Given the description of an element on the screen output the (x, y) to click on. 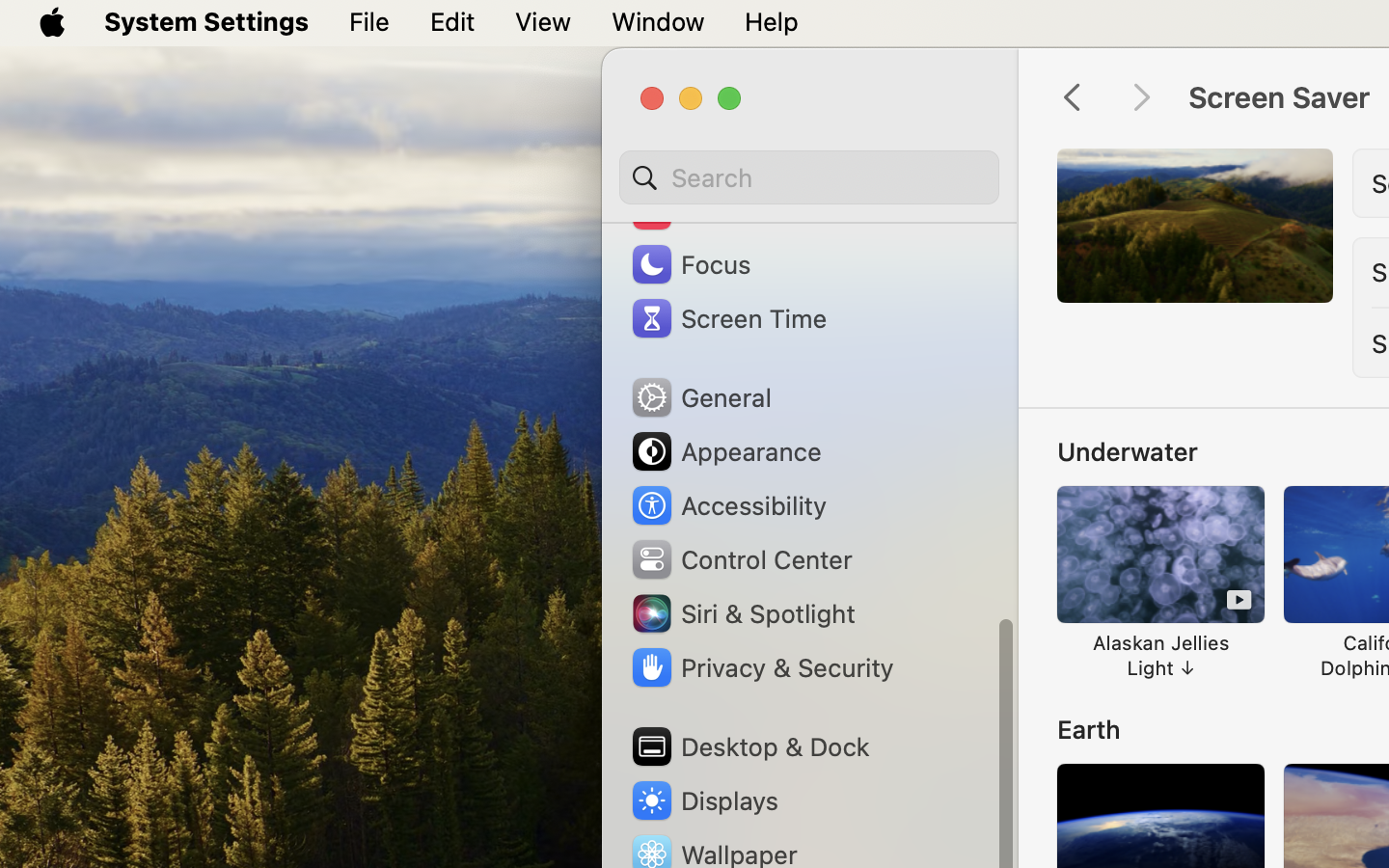
Appearance Element type: AXStaticText (724, 451)
Sound Element type: AXStaticText (692, 210)
Earth Element type: AXStaticText (1088, 728)
Privacy & Security Element type: AXStaticText (760, 667)
Cityscape Element type: AXStaticText (1116, 173)
